Given the description of an element on the screen output the (x, y) to click on. 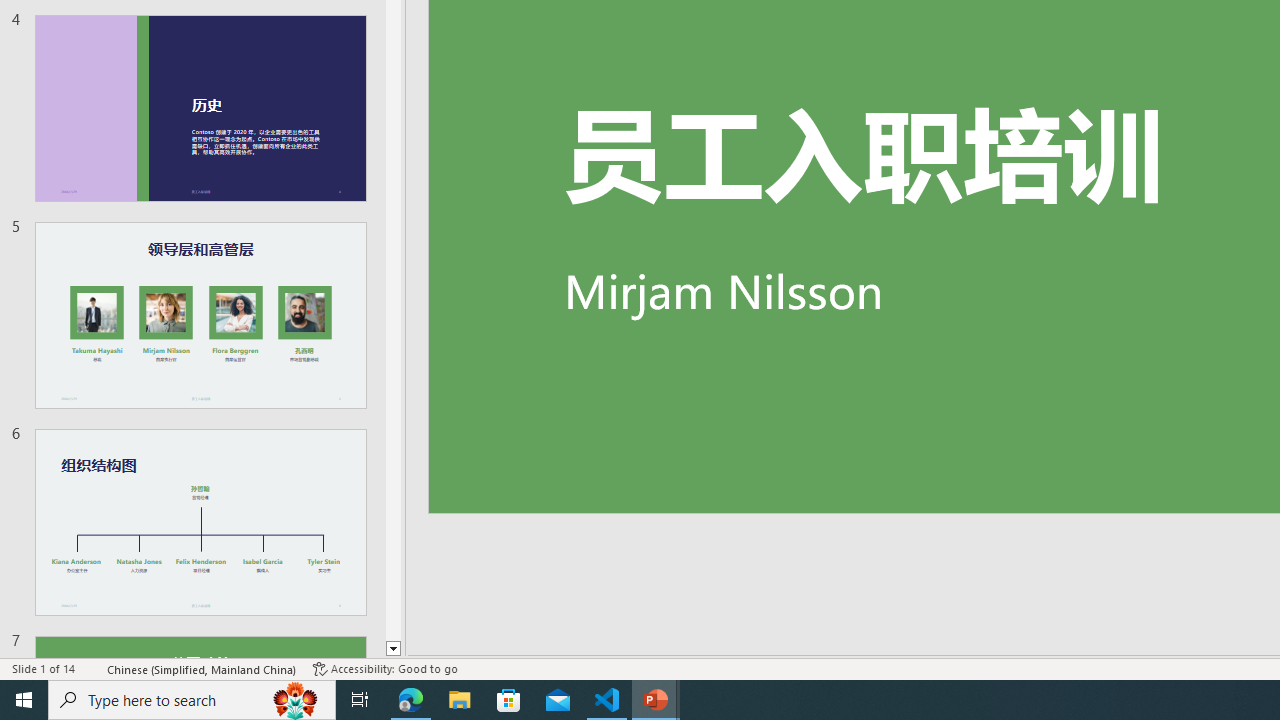
Spell Check  (92, 668)
Accessibility Checker Accessibility: Good to go (384, 668)
